Given the description of an element on the screen output the (x, y) to click on. 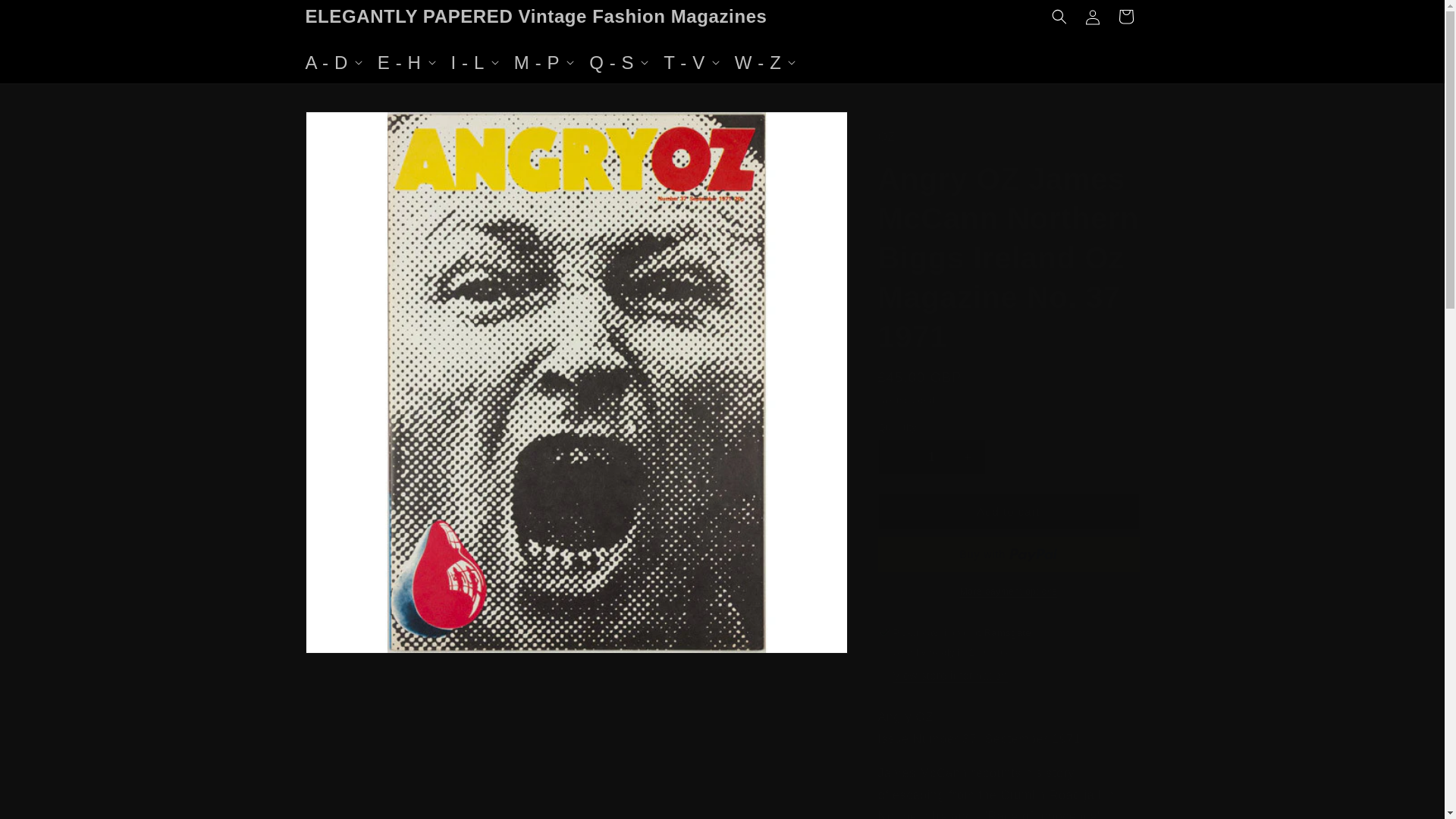
1 (931, 456)
Skip to content (45, 17)
